Given the description of an element on the screen output the (x, y) to click on. 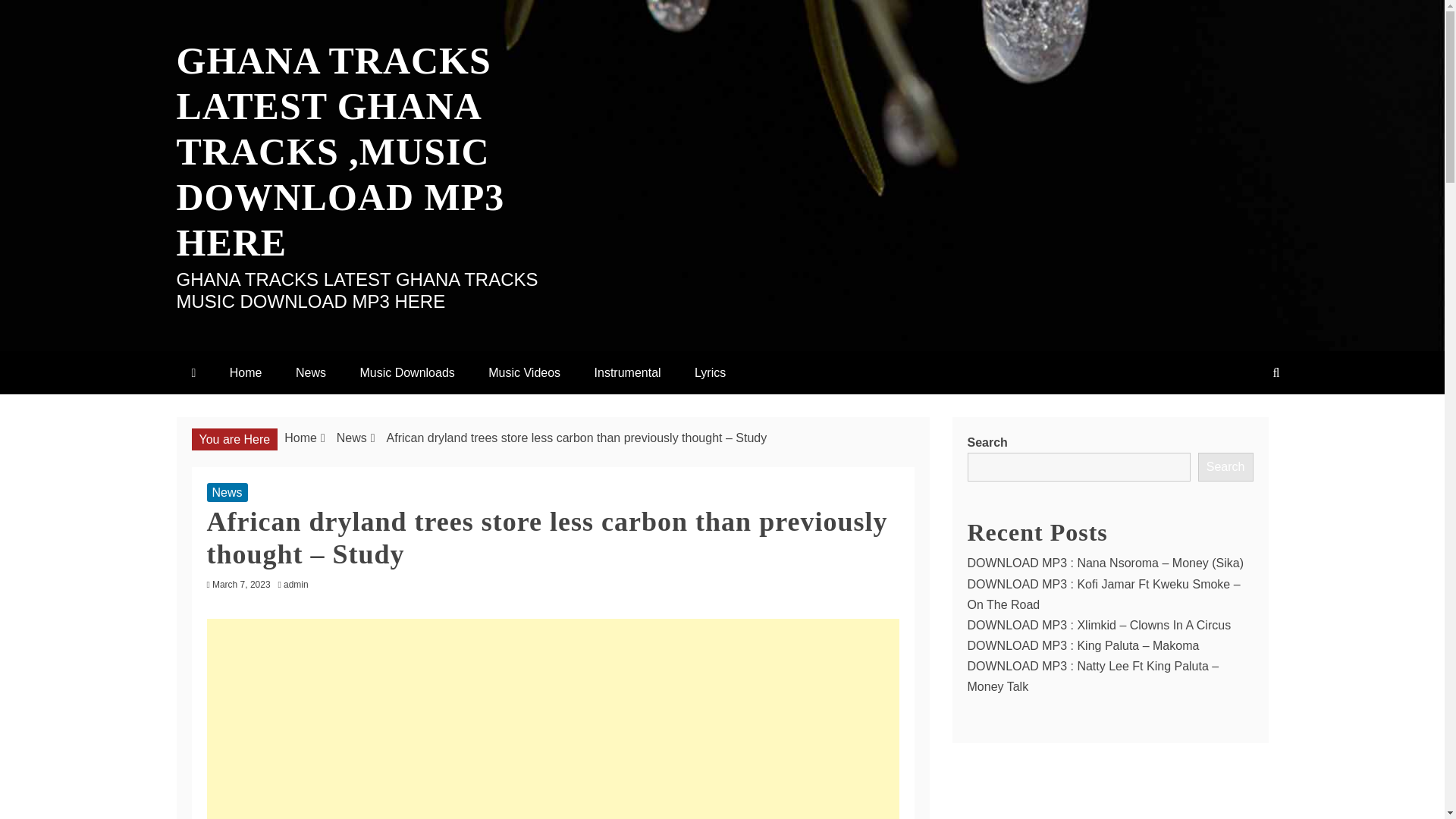
News (226, 492)
News (351, 437)
Music Downloads (405, 372)
March 7, 2023 (241, 584)
Search (1225, 466)
GHANA TRACKS LATEST GHANA TRACKS ,MUSIC DOWNLOAD MP3 HERE (339, 151)
News (310, 372)
Home (300, 437)
Lyrics (710, 372)
Instrumental (628, 372)
